Given the description of an element on the screen output the (x, y) to click on. 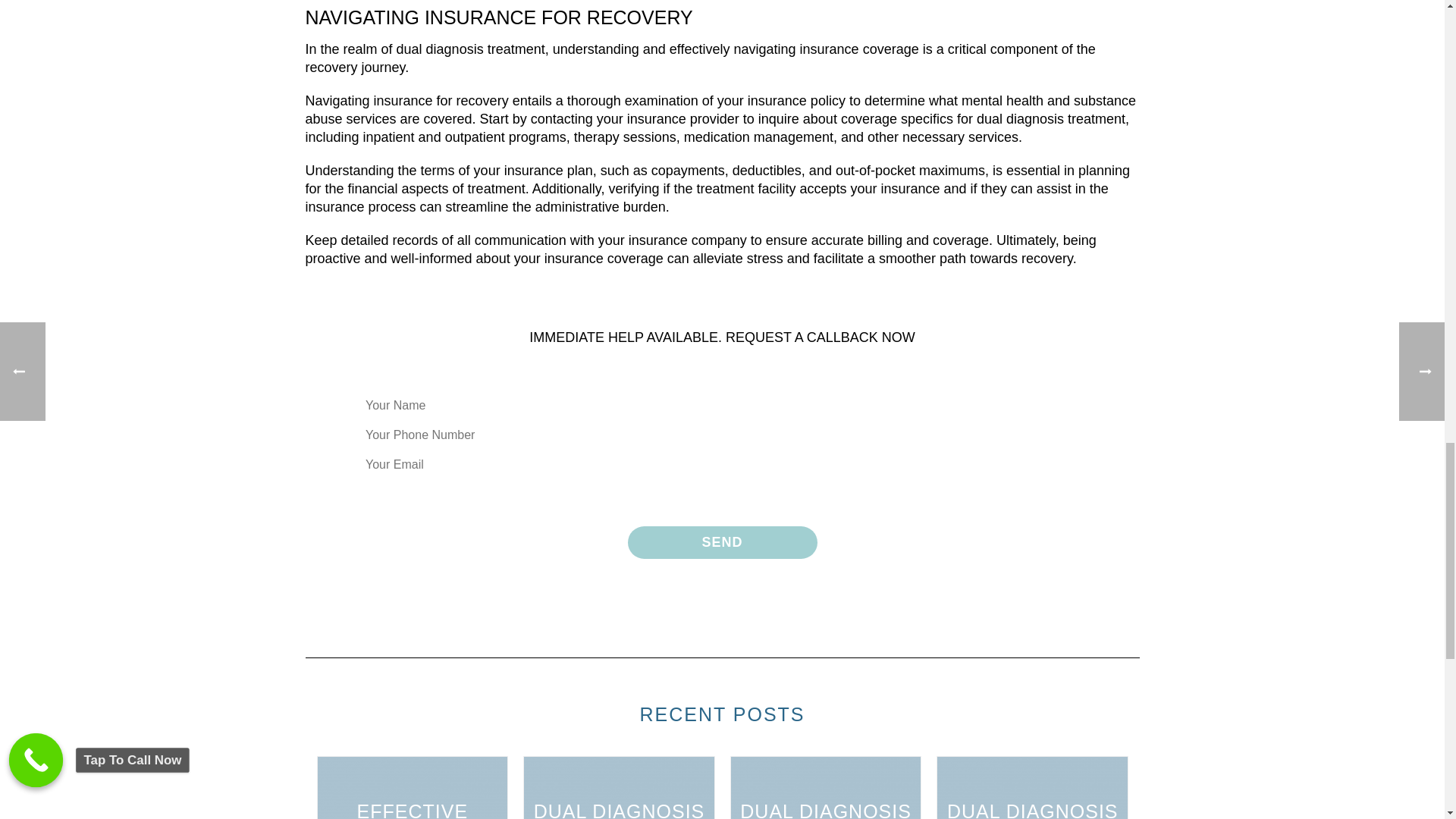
EFFECTIVE TREATMENT FOR DUAL DIAGNOSIS (411, 787)
Dual Diagnosis Treatment Winston-Salem (1031, 787)
Send (721, 542)
Send (721, 542)
Effective Treatment For Dual Diagnosis (411, 787)
Dual Diagnosis Treatment Women (825, 787)
DUAL DIAGNOSIS TREATMENT WINSTON-SALEM (1031, 787)
DUAL DIAGNOSIS TREATMENT WOODLANDS TX (619, 787)
Dual Diagnosis Treatment Woodlands Tx (619, 787)
DUAL DIAGNOSIS TREATMENT WOMEN (825, 787)
